Given the description of an element on the screen output the (x, y) to click on. 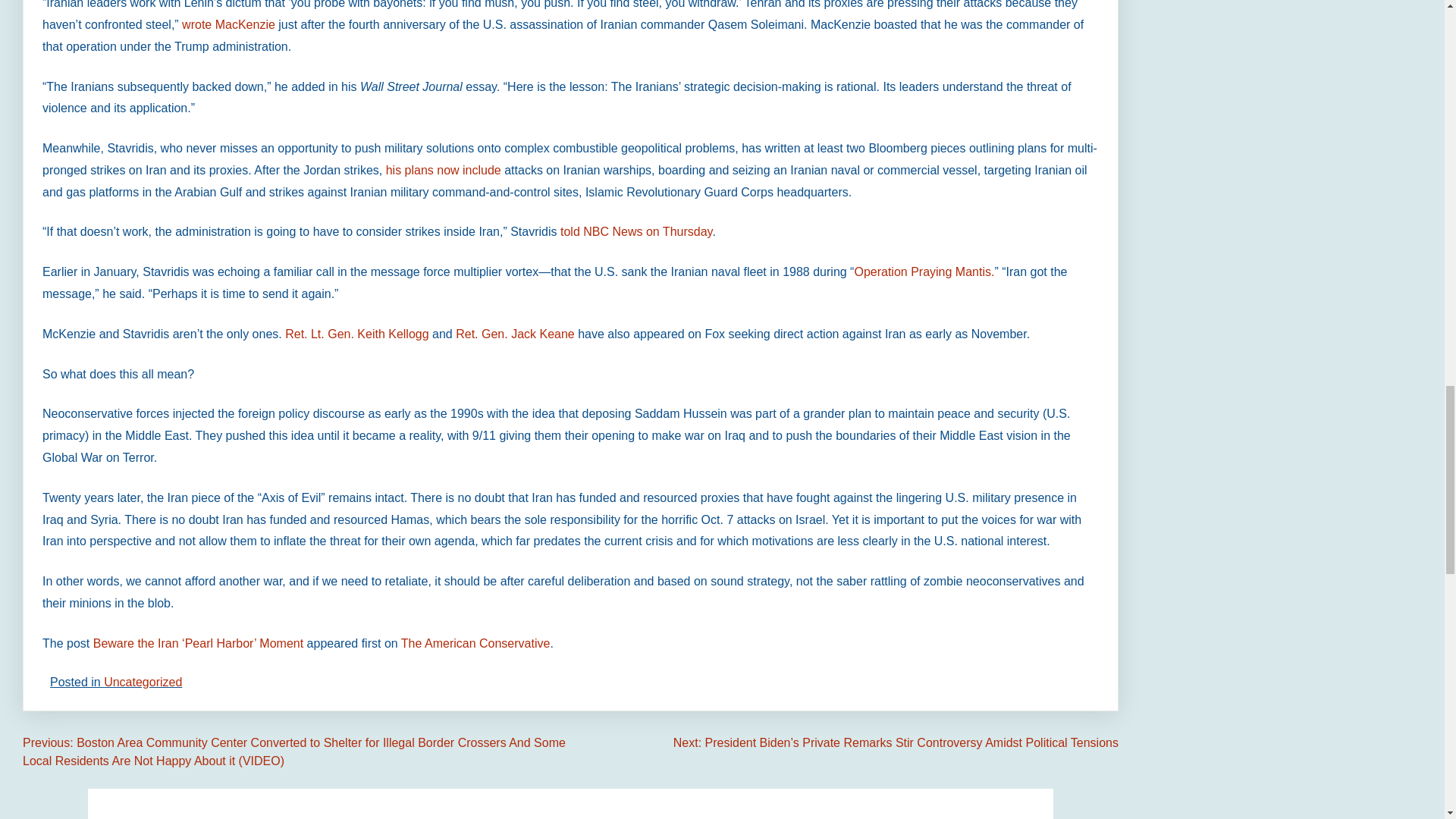
his plans now include (442, 169)
Operation Praying Mantis. (923, 271)
Ret. Lt. Gen. Keith Kellogg (356, 333)
wrote MacKenzie (228, 24)
Ret. Gen. Jack Keane (516, 333)
told NBC News on Thursday (635, 231)
